Given the description of an element on the screen output the (x, y) to click on. 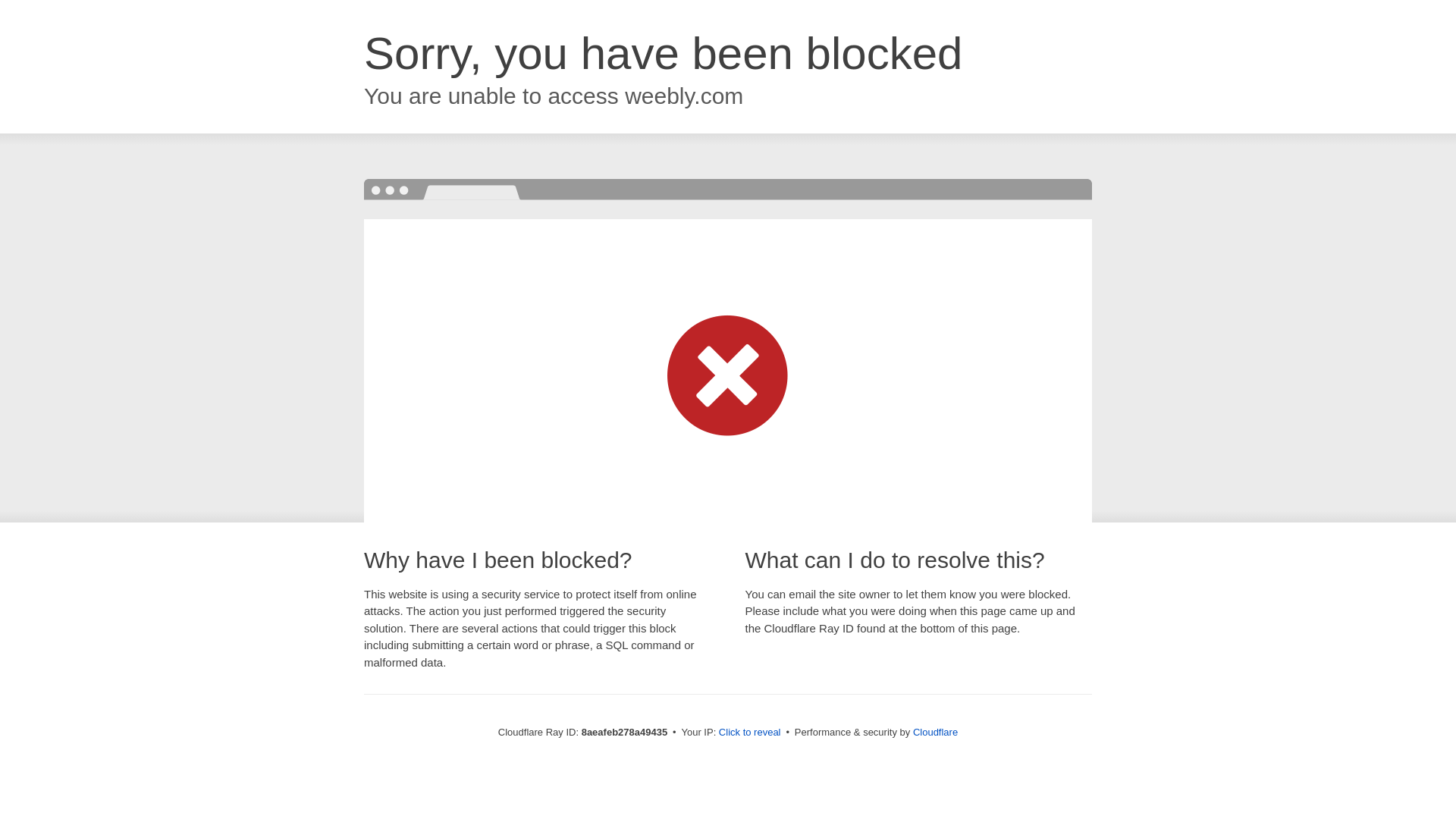
Cloudflare (935, 731)
Click to reveal (749, 732)
